Given the description of an element on the screen output the (x, y) to click on. 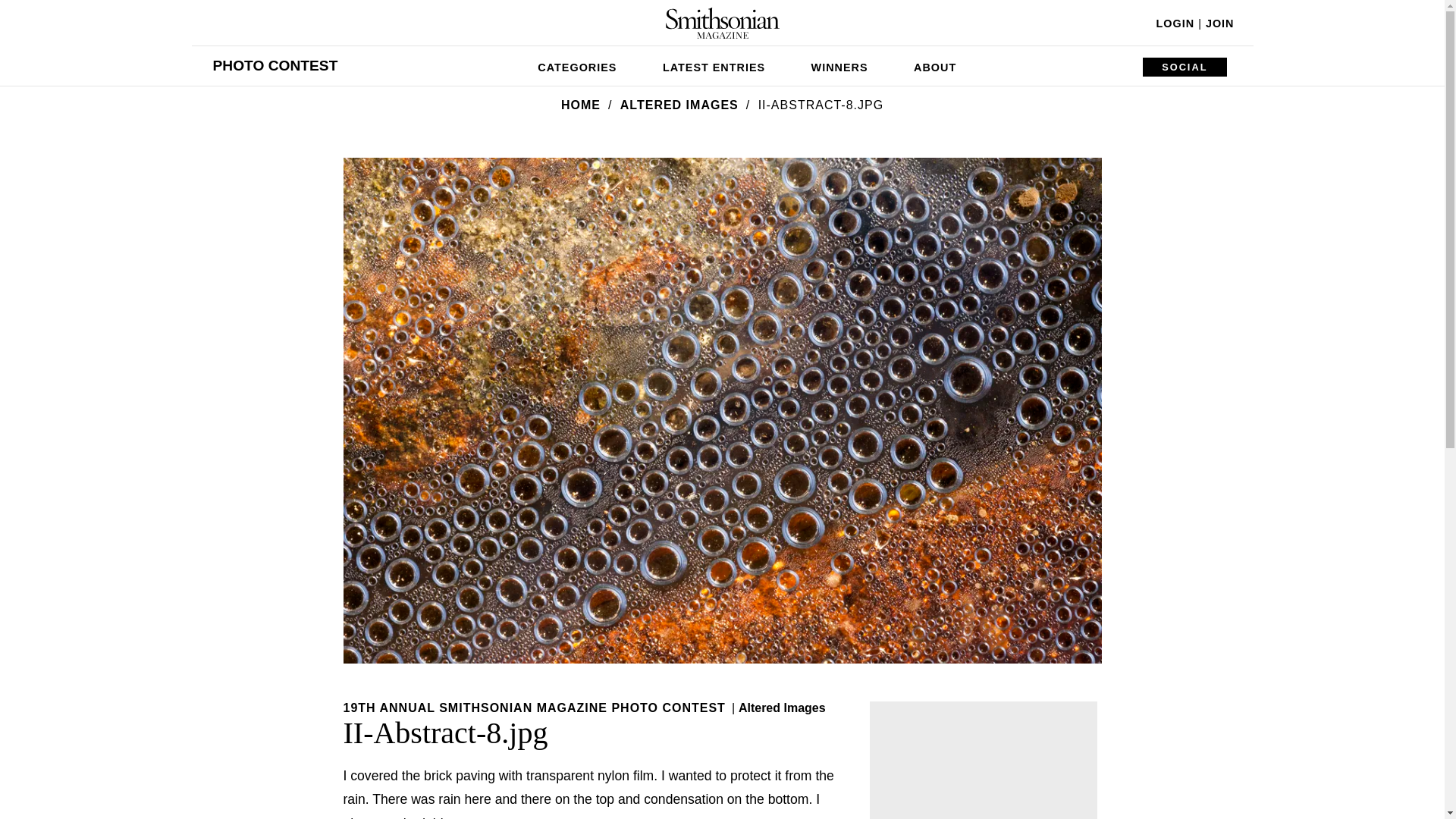
ABOUT (934, 65)
PHOTO CONTEST (274, 65)
WINNERS (839, 65)
LATEST ENTRIES (713, 65)
CATEGORIES (577, 65)
JOIN (1219, 23)
SOCIAL (1183, 66)
